Given the description of an element on the screen output the (x, y) to click on. 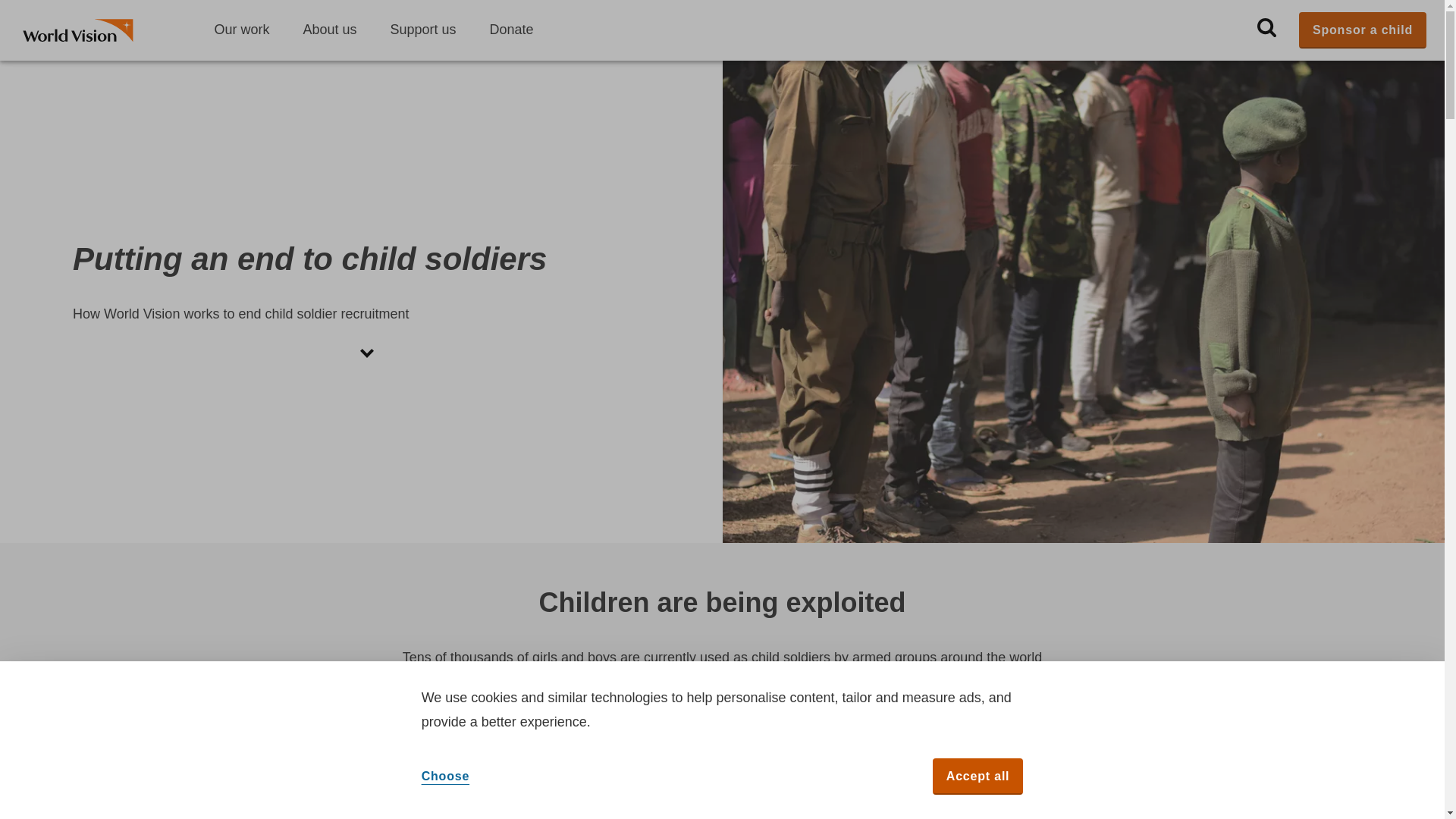
About us (329, 30)
Our work (241, 30)
Extreme Poverty (608, 729)
Support us (421, 30)
